Given the description of an element on the screen output the (x, y) to click on. 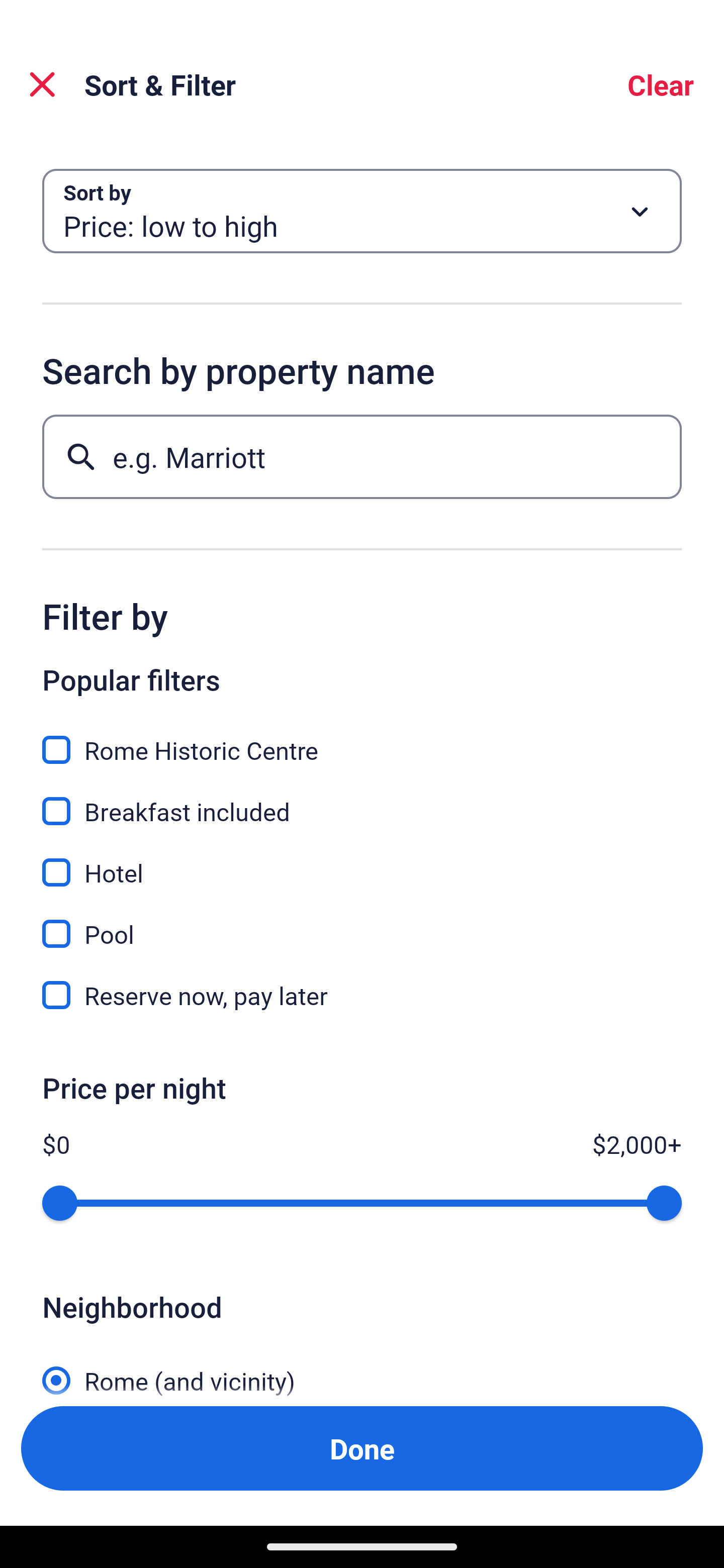
Close Sort and Filter (42, 84)
Clear (660, 84)
Sort by Button Price: low to high (361, 211)
e.g. Marriott Button (361, 455)
Rome Historic Centre, Rome Historic Centre (361, 738)
Breakfast included, Breakfast included (361, 800)
Hotel, Hotel (361, 861)
Pool, Pool (361, 922)
Reserve now, pay later, Reserve now, pay later (361, 995)
Apply and close Sort and Filter Done (361, 1448)
